Given the description of an element on the screen output the (x, y) to click on. 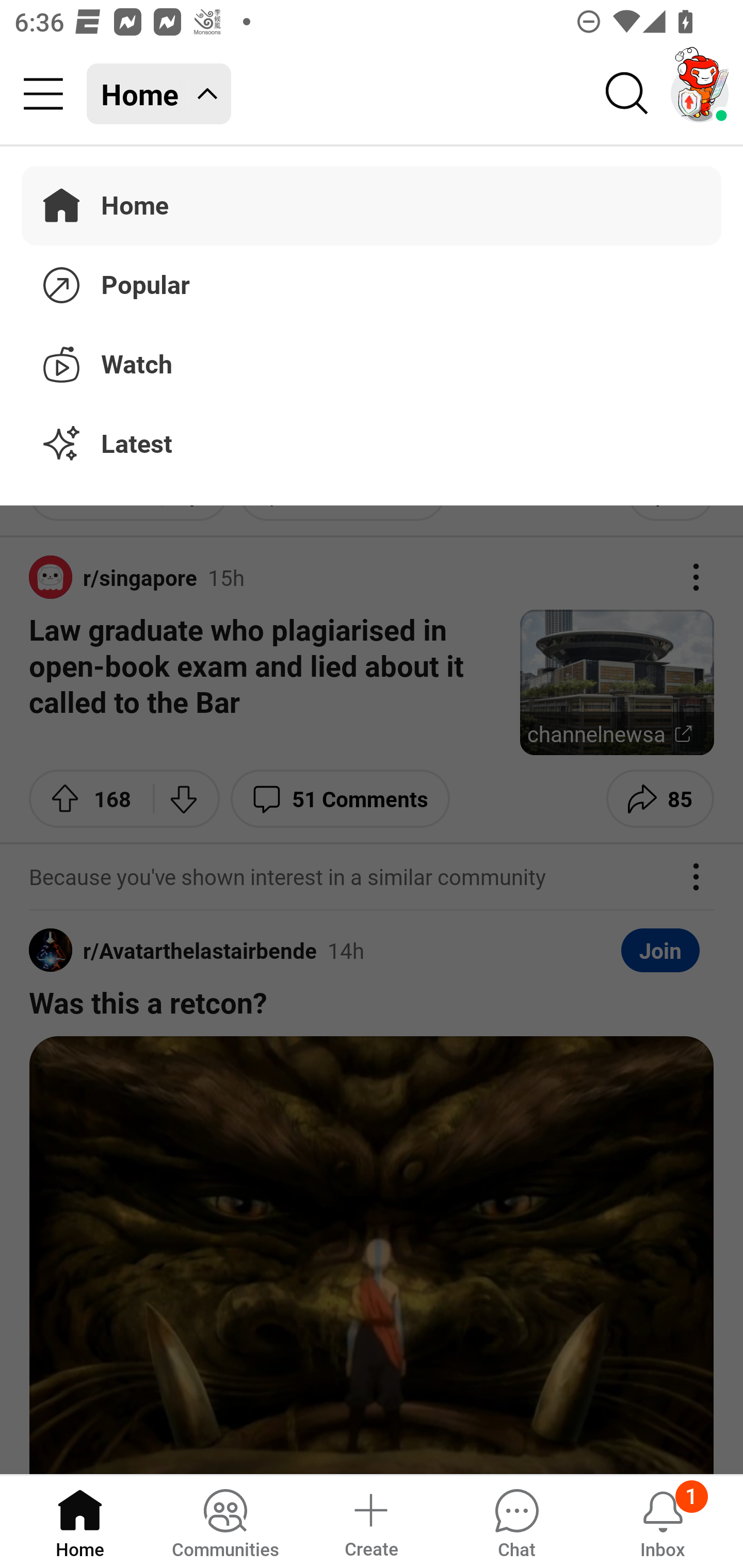
Community menu (43, 93)
Home Home feed (158, 93)
Search (626, 93)
TestAppium002 account (699, 93)
Popular Popular feed (371, 281)
Watch Watch feed (371, 361)
Latest Latest feed (371, 444)
Home (80, 1520)
Communities (225, 1520)
Create a post Create (370, 1520)
Chat (516, 1520)
Inbox, has 1 notification 1 Inbox (662, 1520)
